Given the description of an element on the screen output the (x, y) to click on. 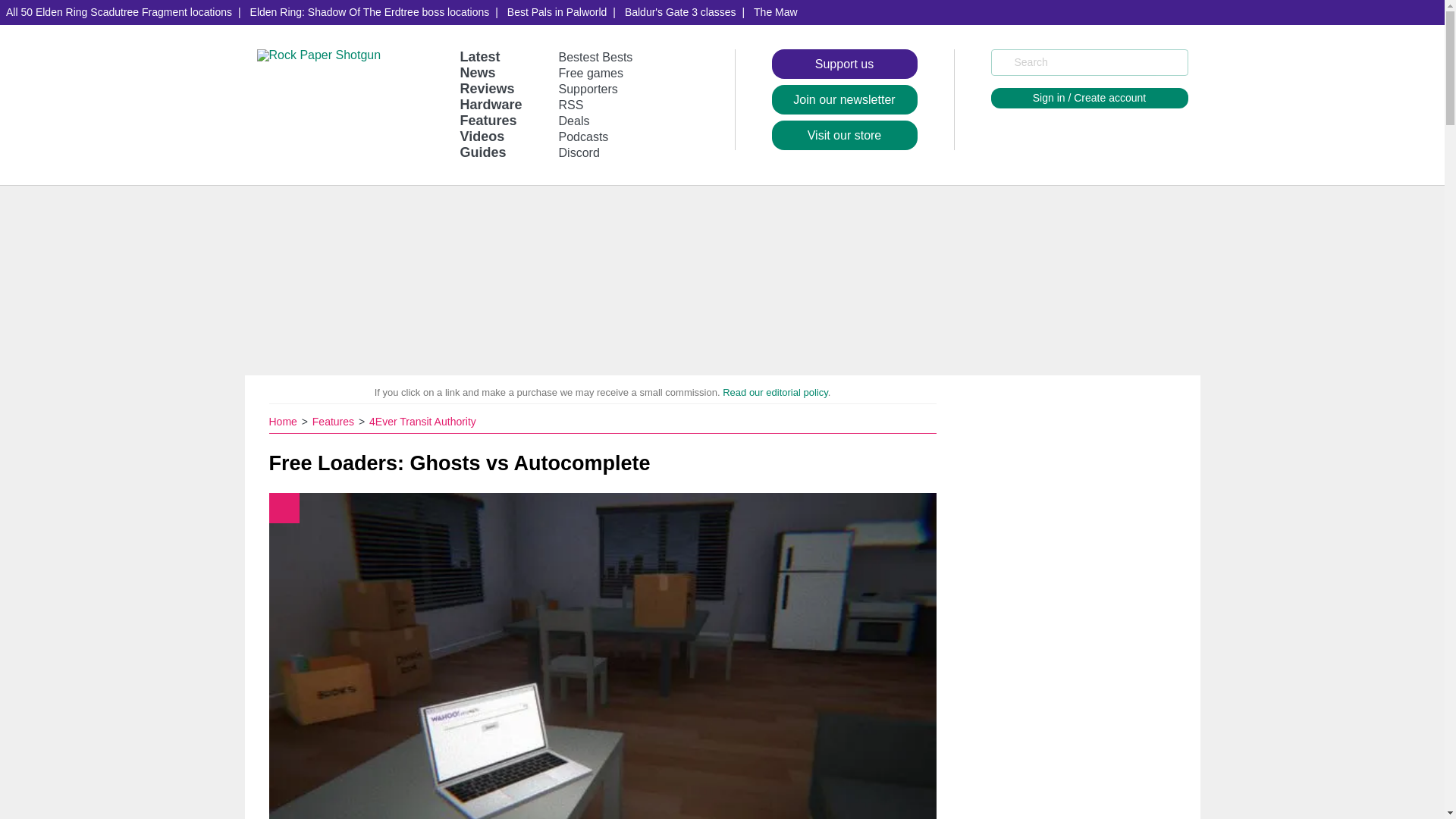
Elden Ring: Shadow Of The Erdtree boss locations (370, 12)
Free games (591, 72)
News (477, 72)
Elden Ring: Shadow Of The Erdtree boss locations (370, 12)
The Maw (775, 12)
Features (488, 120)
Baldur's Gate 3 classes (680, 12)
Guides (482, 151)
Baldur's Gate 3 classes (680, 12)
Reviews (486, 88)
